Given the description of an element on the screen output the (x, y) to click on. 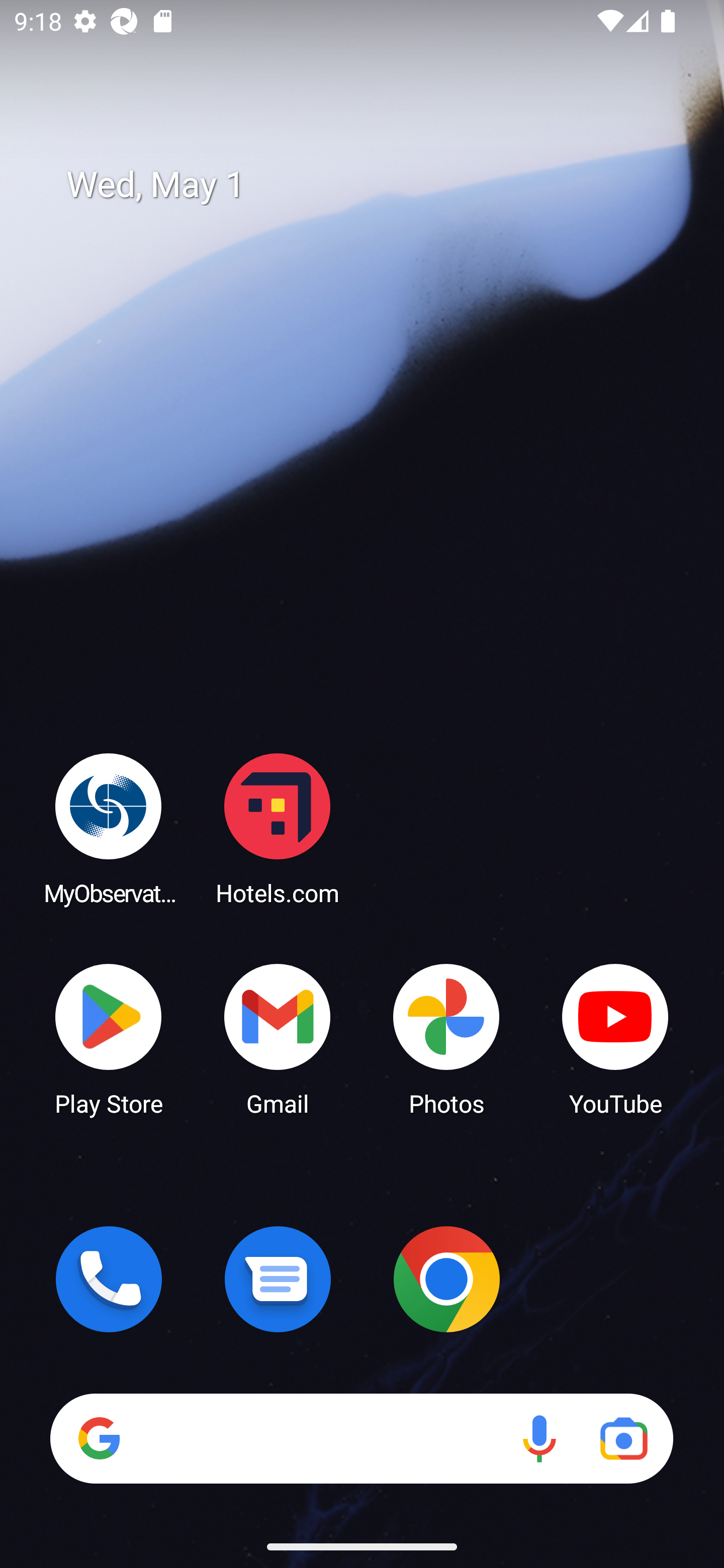
Wed, May 1 (375, 184)
MyObservatory (108, 828)
Hotels.com (277, 828)
Play Store (108, 1038)
Gmail (277, 1038)
Photos (445, 1038)
YouTube (615, 1038)
Phone (108, 1279)
Messages (277, 1279)
Chrome (446, 1279)
Search Voice search Google Lens (361, 1438)
Voice search (539, 1438)
Google Lens (623, 1438)
